Given the description of an element on the screen output the (x, y) to click on. 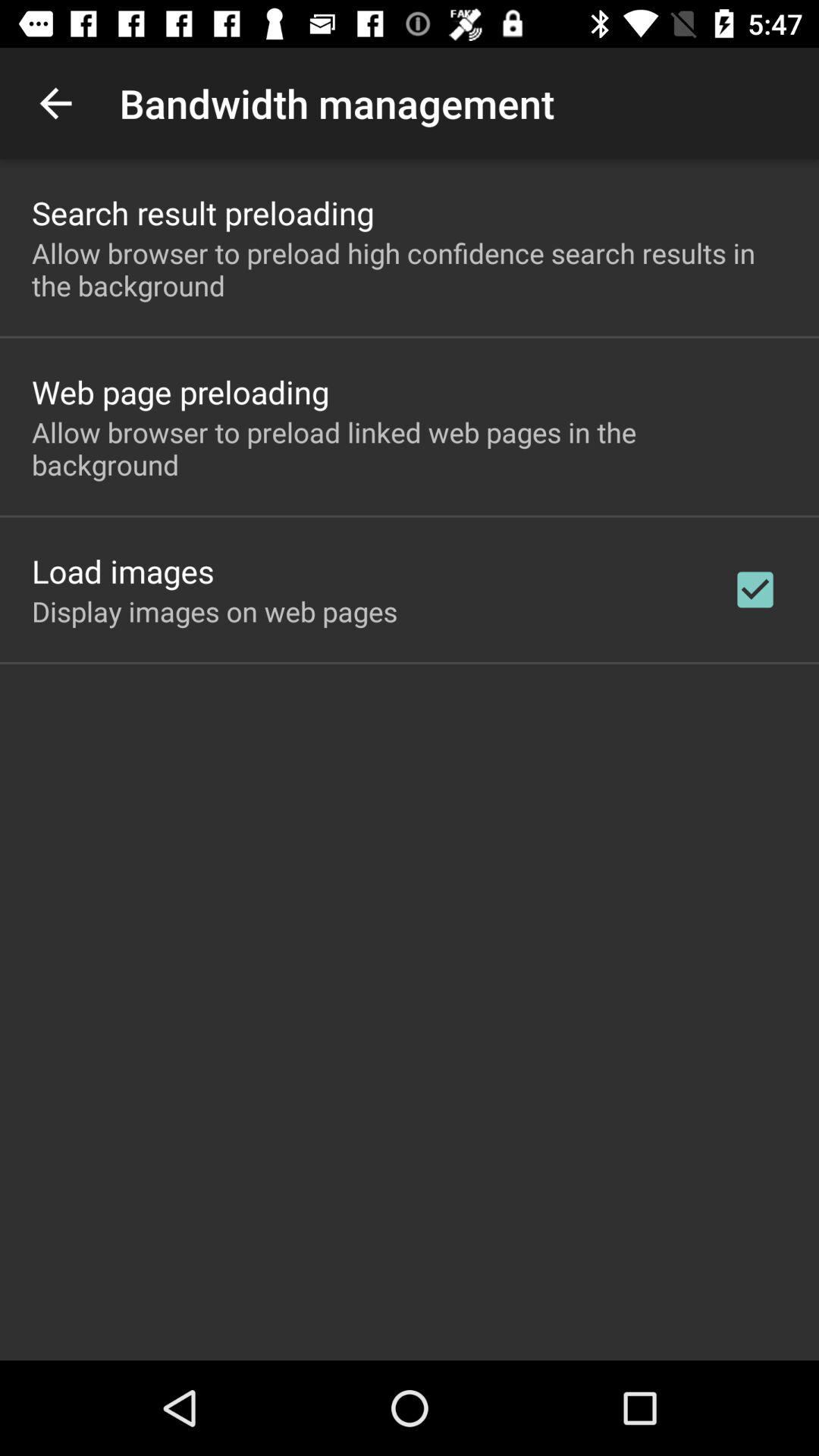
click icon to the left of bandwidth management (55, 103)
